Given the description of an element on the screen output the (x, y) to click on. 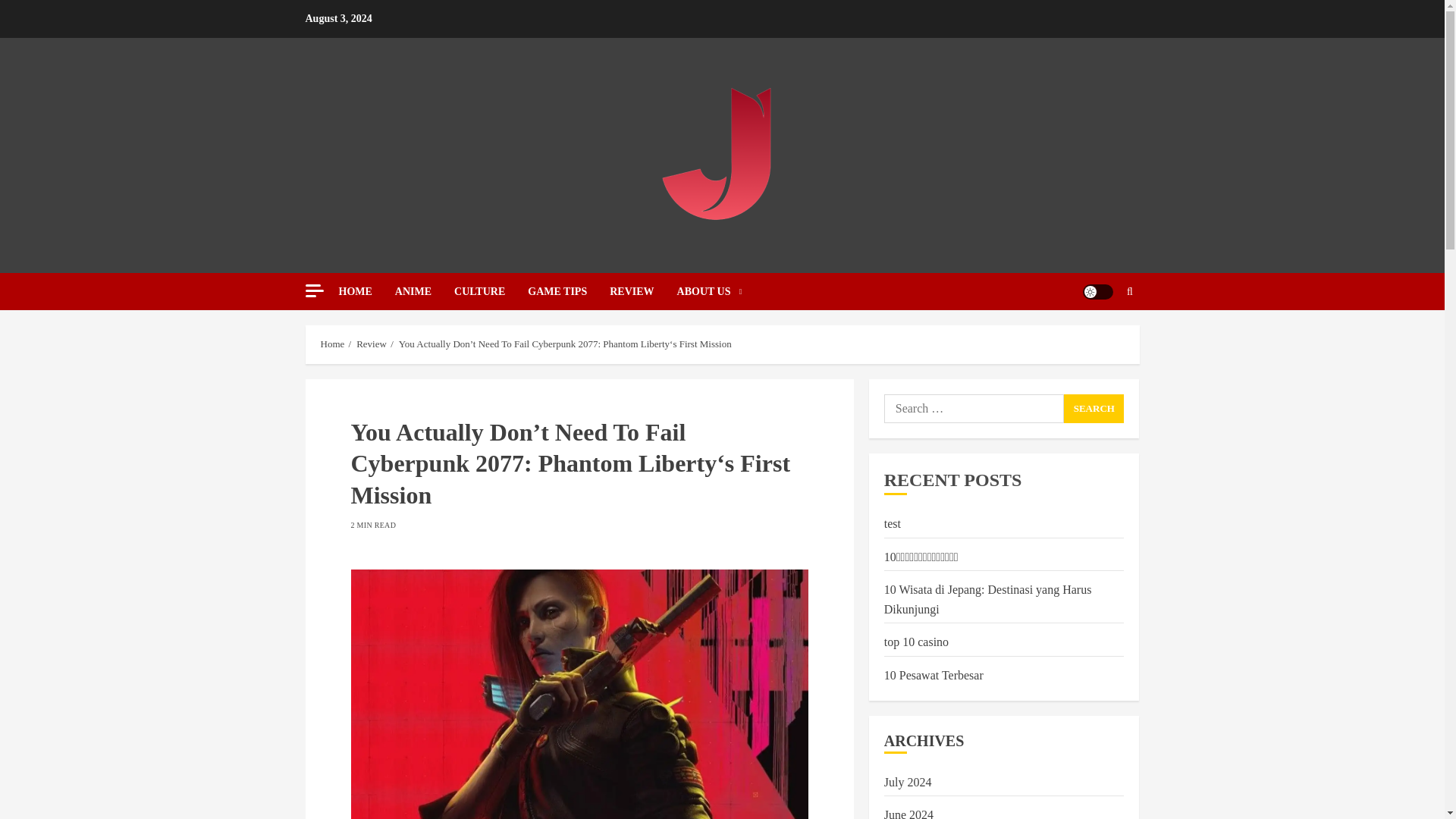
GAME TIPS (568, 291)
Search (1094, 408)
REVIEW (643, 291)
CULTURE (490, 291)
HOME (365, 291)
Home (331, 344)
ABOUT US (709, 291)
ANIME (424, 291)
Search (1094, 408)
Search (1099, 337)
Review (371, 344)
